Given the description of an element on the screen output the (x, y) to click on. 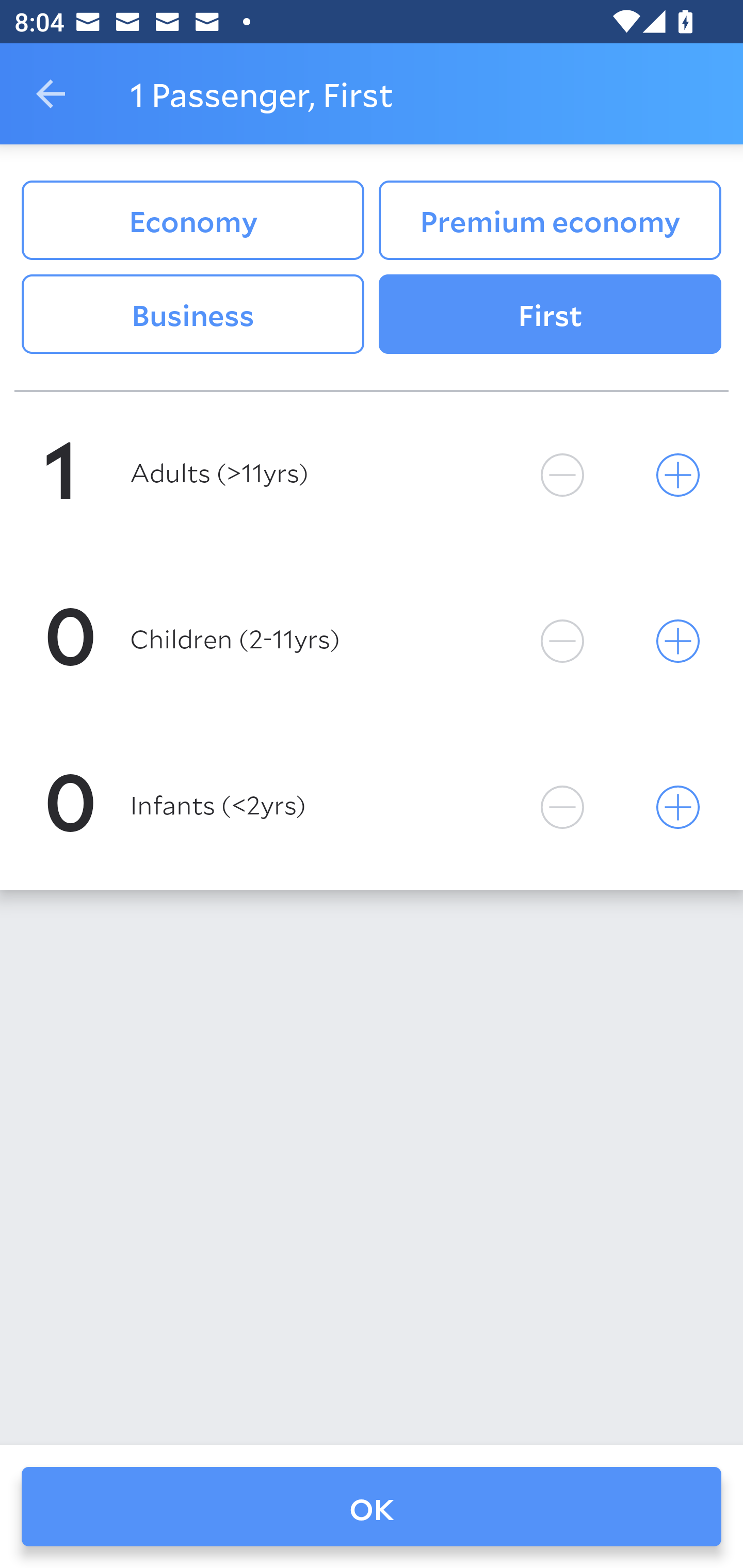
Navigate up (50, 93)
Economy (192, 220)
Premium economy (549, 220)
Business (192, 314)
First (549, 314)
OK (371, 1506)
